Given the description of an element on the screen output the (x, y) to click on. 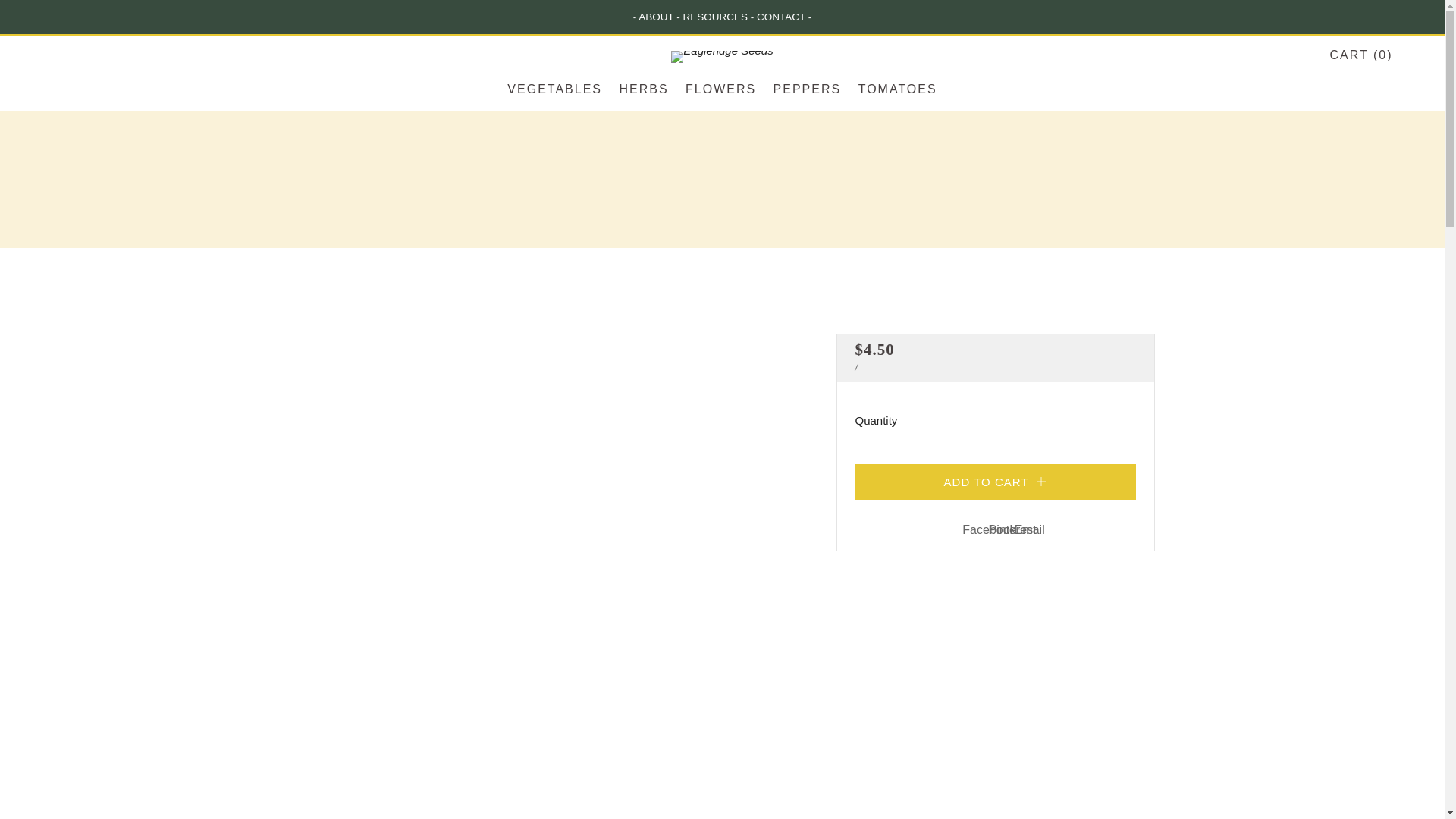
ABOUT (655, 16)
Facebook (988, 530)
RESOURCES (715, 16)
CONTACT (781, 16)
Pinterest (1012, 530)
VEGETABLES (554, 88)
PEPPERS (807, 88)
Email (1029, 530)
HERBS (643, 88)
FLOWERS (720, 88)
